Given the description of an element on the screen output the (x, y) to click on. 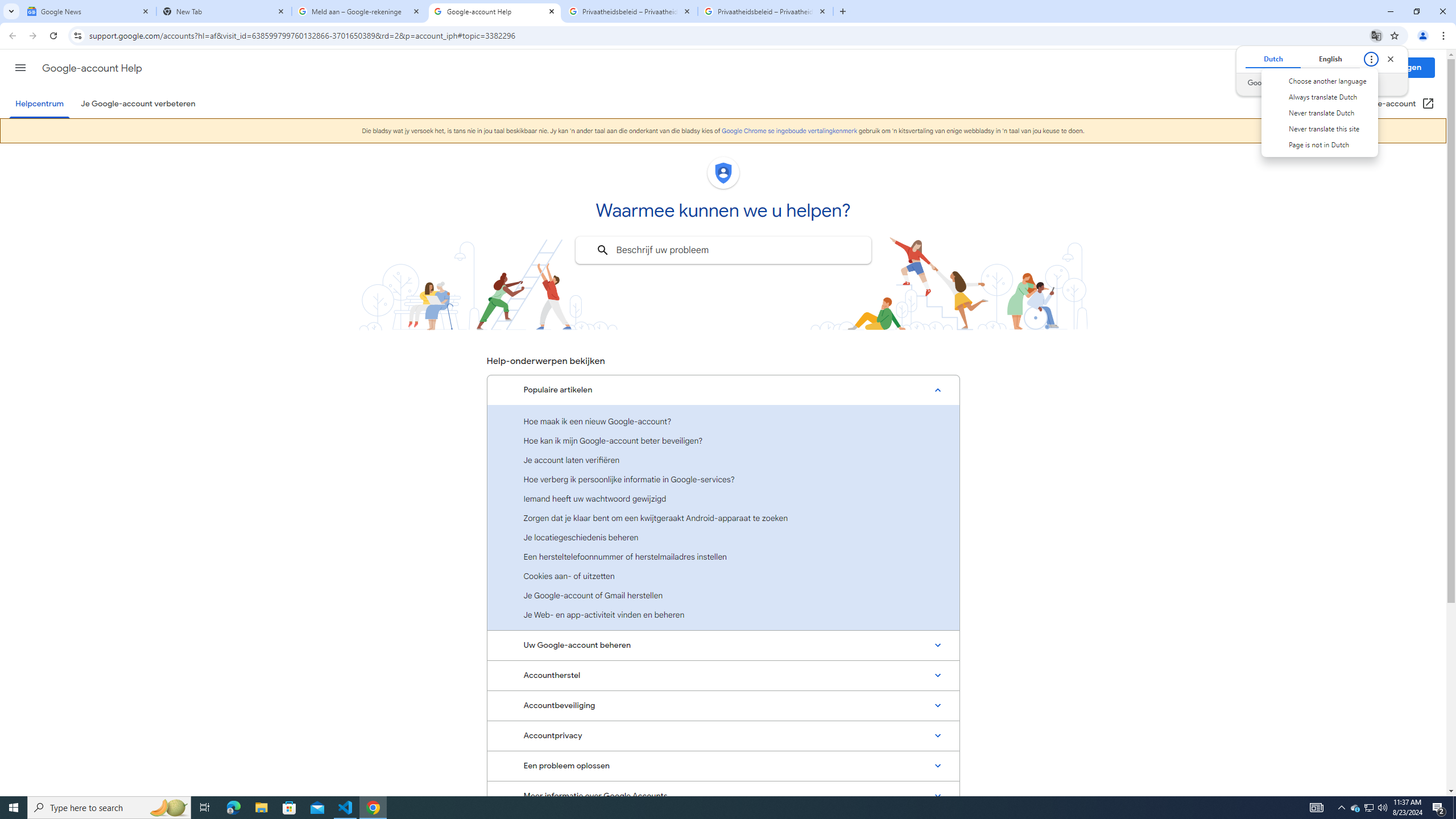
Start (13, 807)
Google Chrome - 1 running window (373, 807)
Hoofdmenu (20, 67)
Uw Google-account beheren (722, 645)
AutomationID: 4105 (1316, 807)
Never translate this site (1318, 128)
Een hersteltelefoonnummer of herstelmailadres instellen (722, 556)
Je Web- en app-activiteit vinden en beheren (722, 614)
Iemand heeft uw wachtwoord gewijzigd (722, 498)
